Given the description of an element on the screen output the (x, y) to click on. 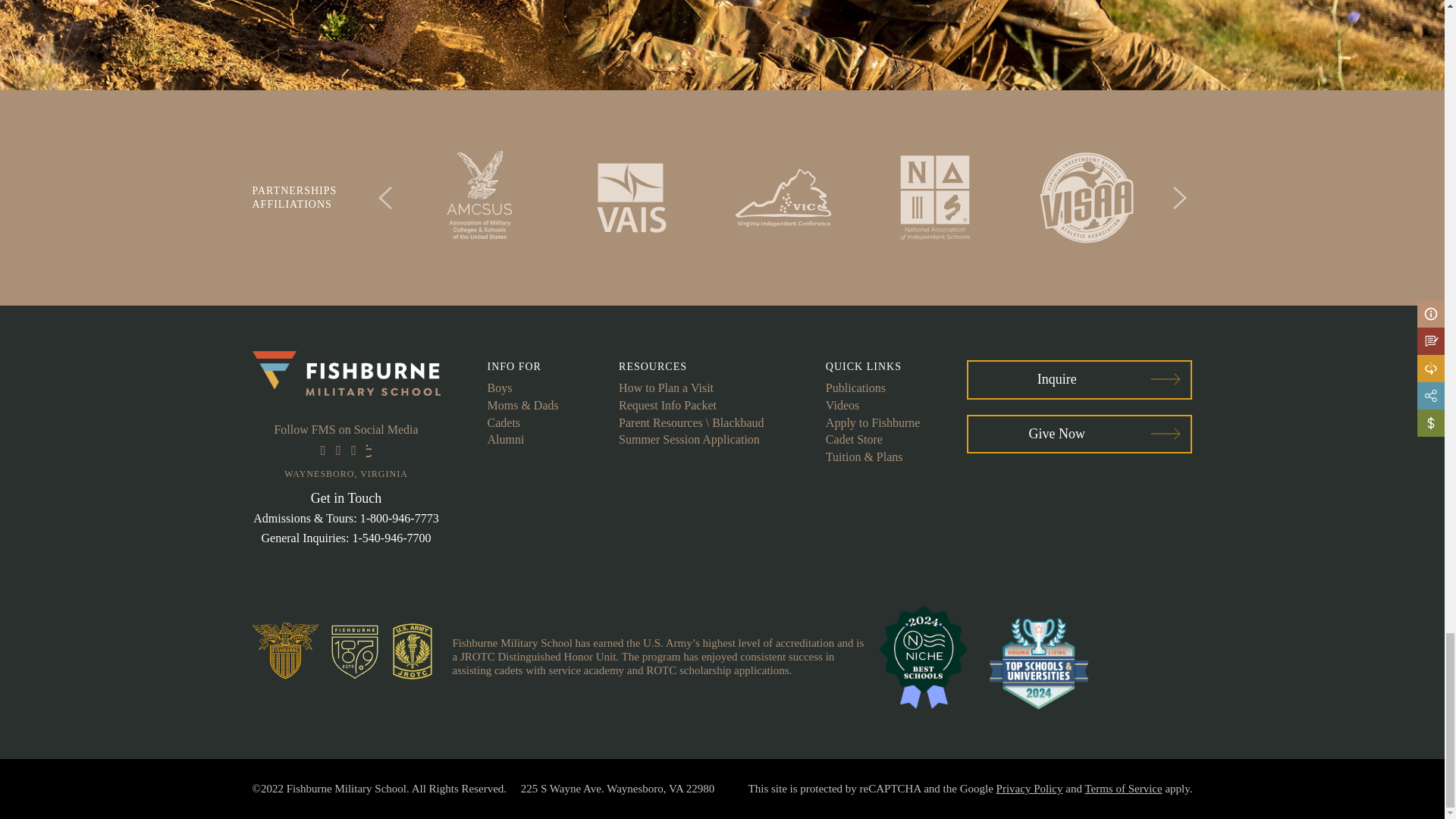
2024 Niche Best Schools (922, 656)
